Given the description of an element on the screen output the (x, y) to click on. 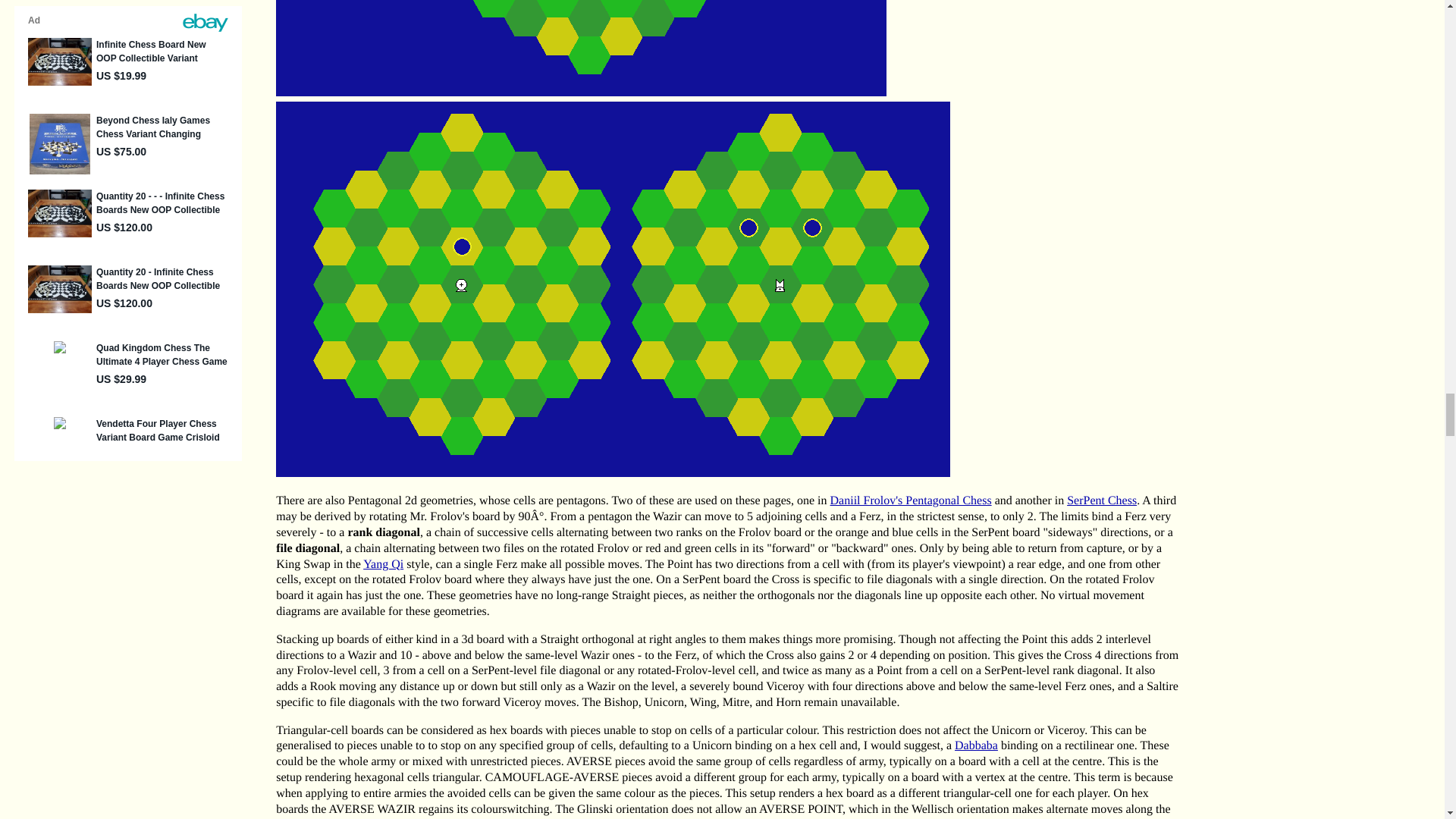
Yang Qi (382, 563)
SerPent Chess (1102, 500)
Daniil Frolov's Pentagonal Chess (910, 500)
Dabbaba (976, 745)
